Given the description of an element on the screen output the (x, y) to click on. 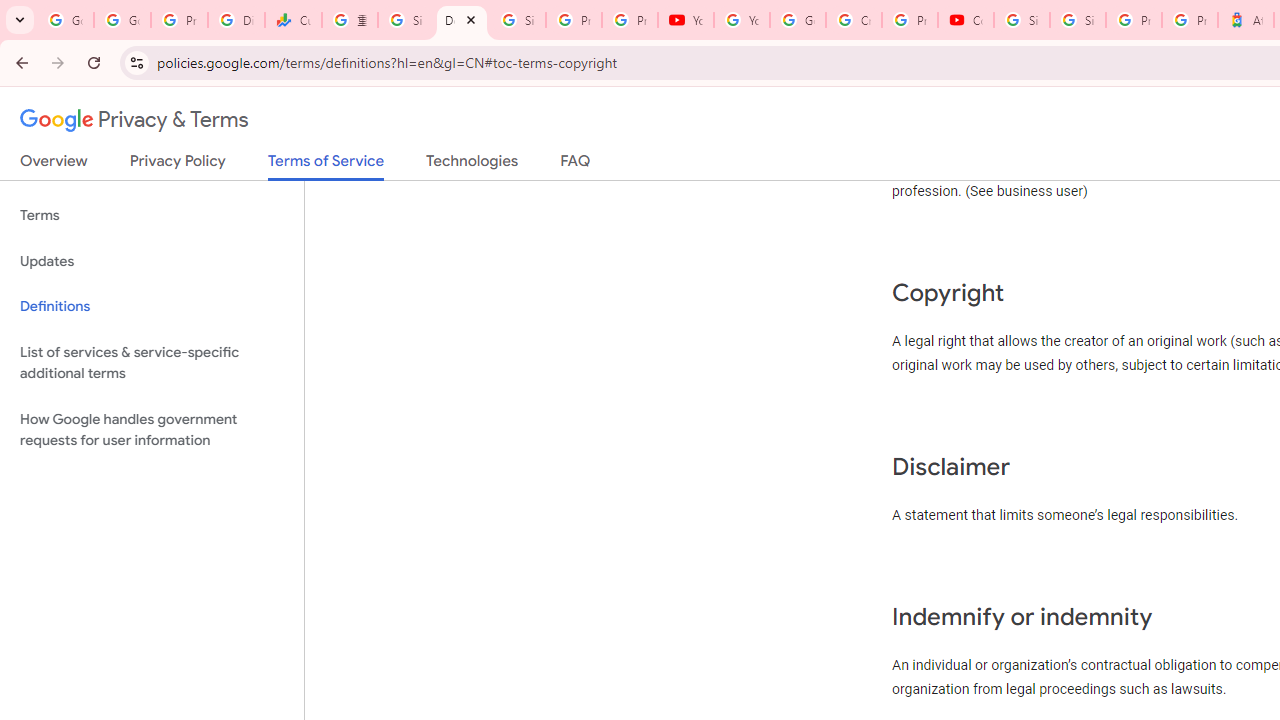
Sign in - Google Accounts (405, 20)
